Given the description of an element on the screen output the (x, y) to click on. 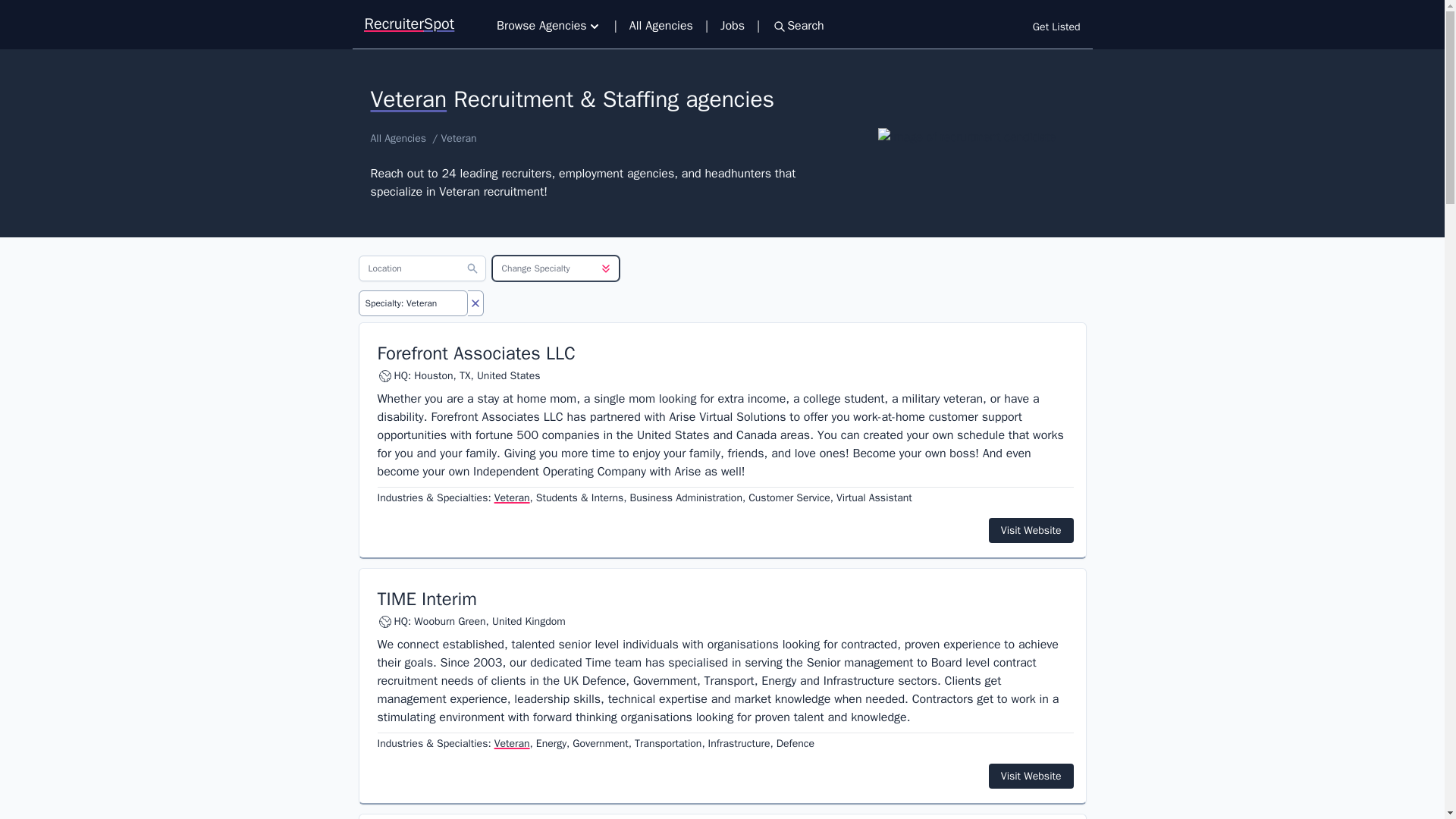
Government, (601, 743)
Transportation, (669, 743)
Business Administration, (686, 497)
Houston (432, 375)
Browse Agencies (549, 25)
United States (508, 375)
Visit Website (1031, 529)
Customer Service, (790, 497)
Infrastructure, (740, 743)
Get Listed (1056, 27)
Virtual Assistant (873, 497)
Visit Website (1031, 775)
RecruiterSpot (409, 24)
All Agencies (660, 25)
United Kingdom (529, 621)
